Given the description of an element on the screen output the (x, y) to click on. 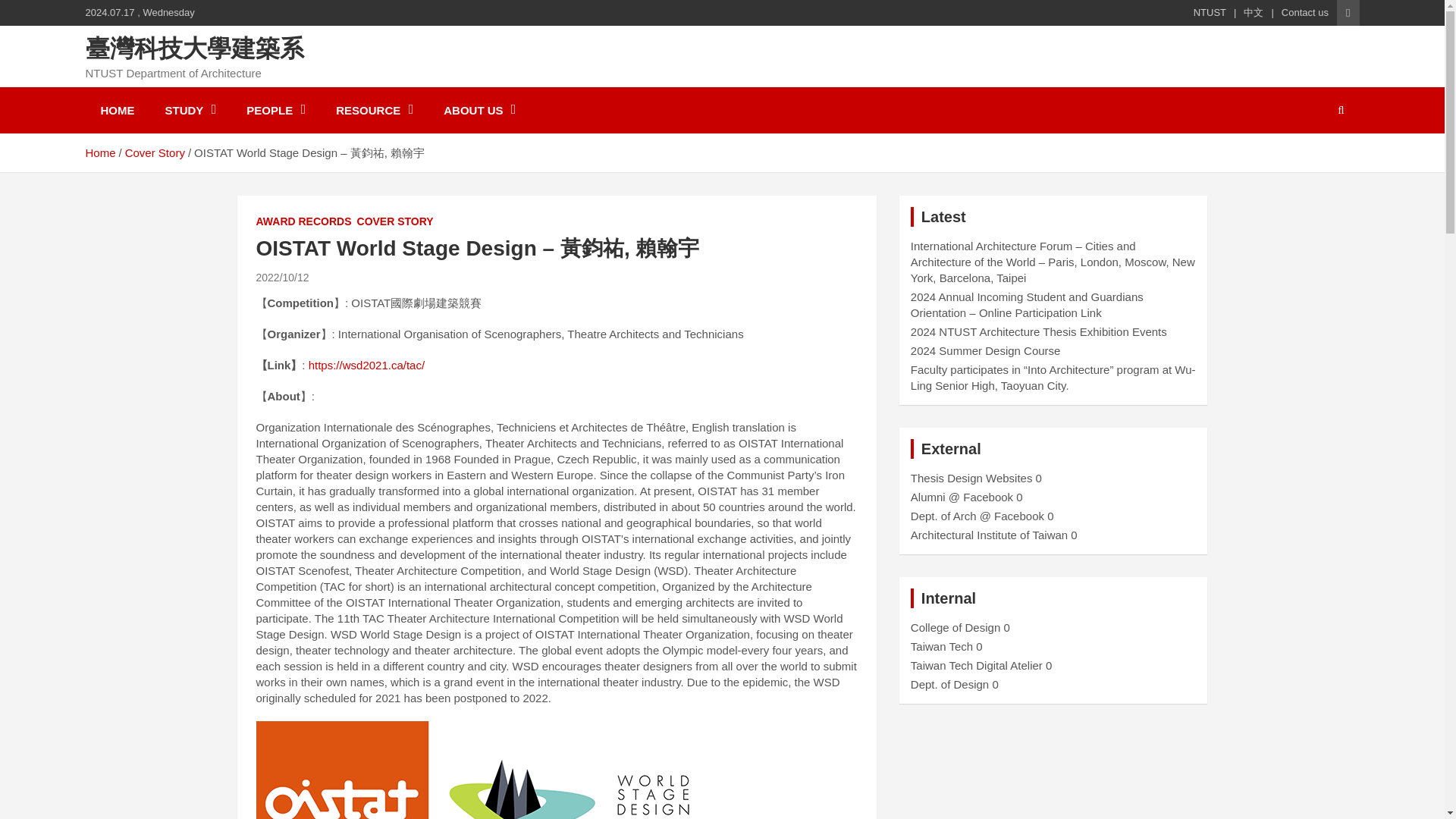
Home (99, 152)
HOME (116, 109)
NTUST (1209, 12)
ABOUT US (479, 109)
PEOPLE (275, 109)
STUDY (190, 109)
Contact us (1304, 12)
01.png-1 (479, 770)
RESOURCE (374, 109)
